Given the description of an element on the screen output the (x, y) to click on. 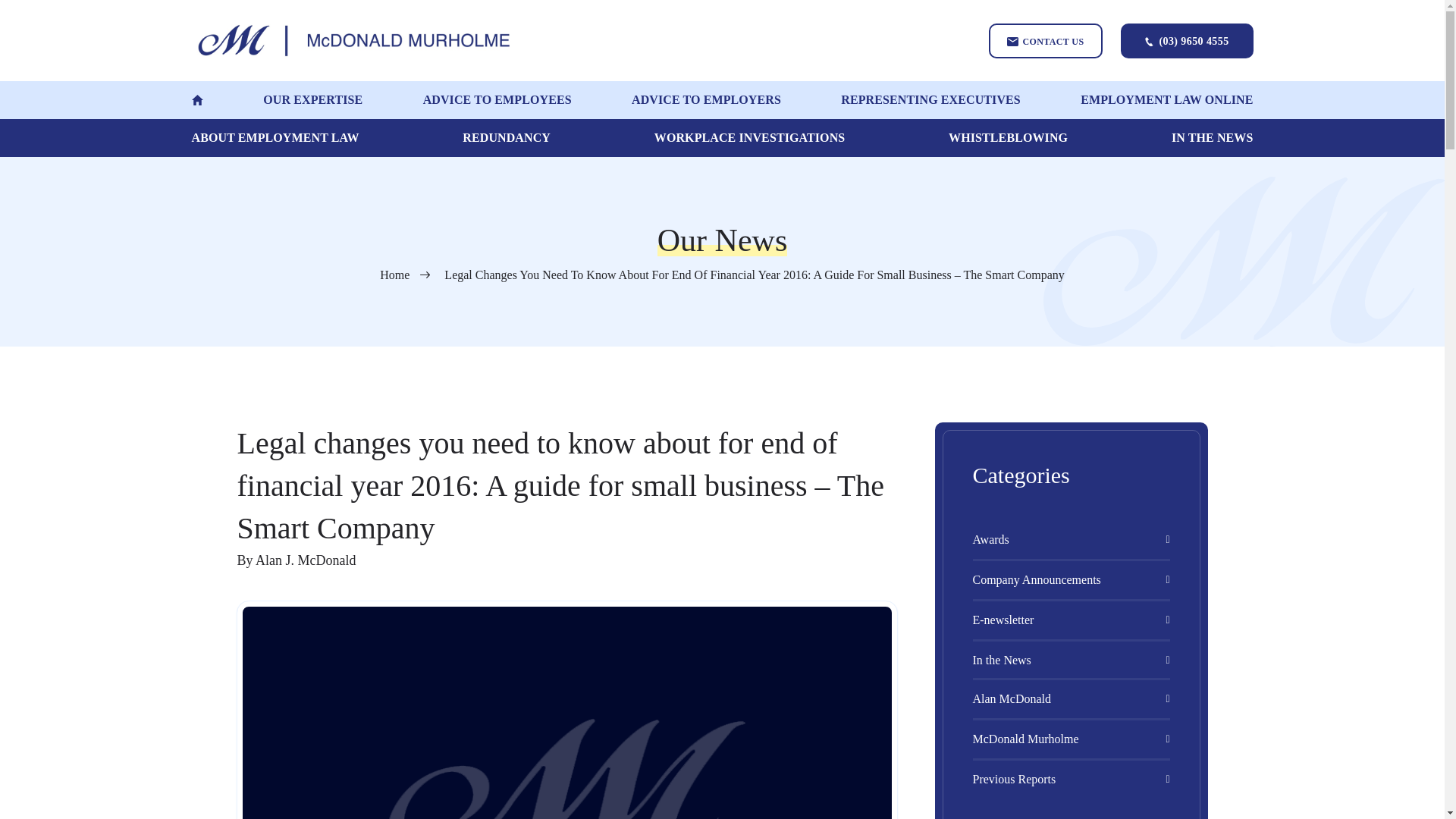
CONTACT US (1045, 39)
ADVICE TO EMPLOYEES (497, 99)
OUR EXPERTISE (312, 99)
WHISTLEBLOWING (1008, 137)
REPRESENTING EXECUTIVES (930, 99)
EMPLOYMENT LAW ONLINE (1166, 99)
ADVICE TO EMPLOYERS (705, 99)
REDUNDANCY (506, 137)
IN THE NEWS (1212, 137)
Home (410, 275)
WORKPLACE INVESTIGATIONS (749, 137)
ABOUT EMPLOYMENT LAW (274, 137)
